Given the description of an element on the screen output the (x, y) to click on. 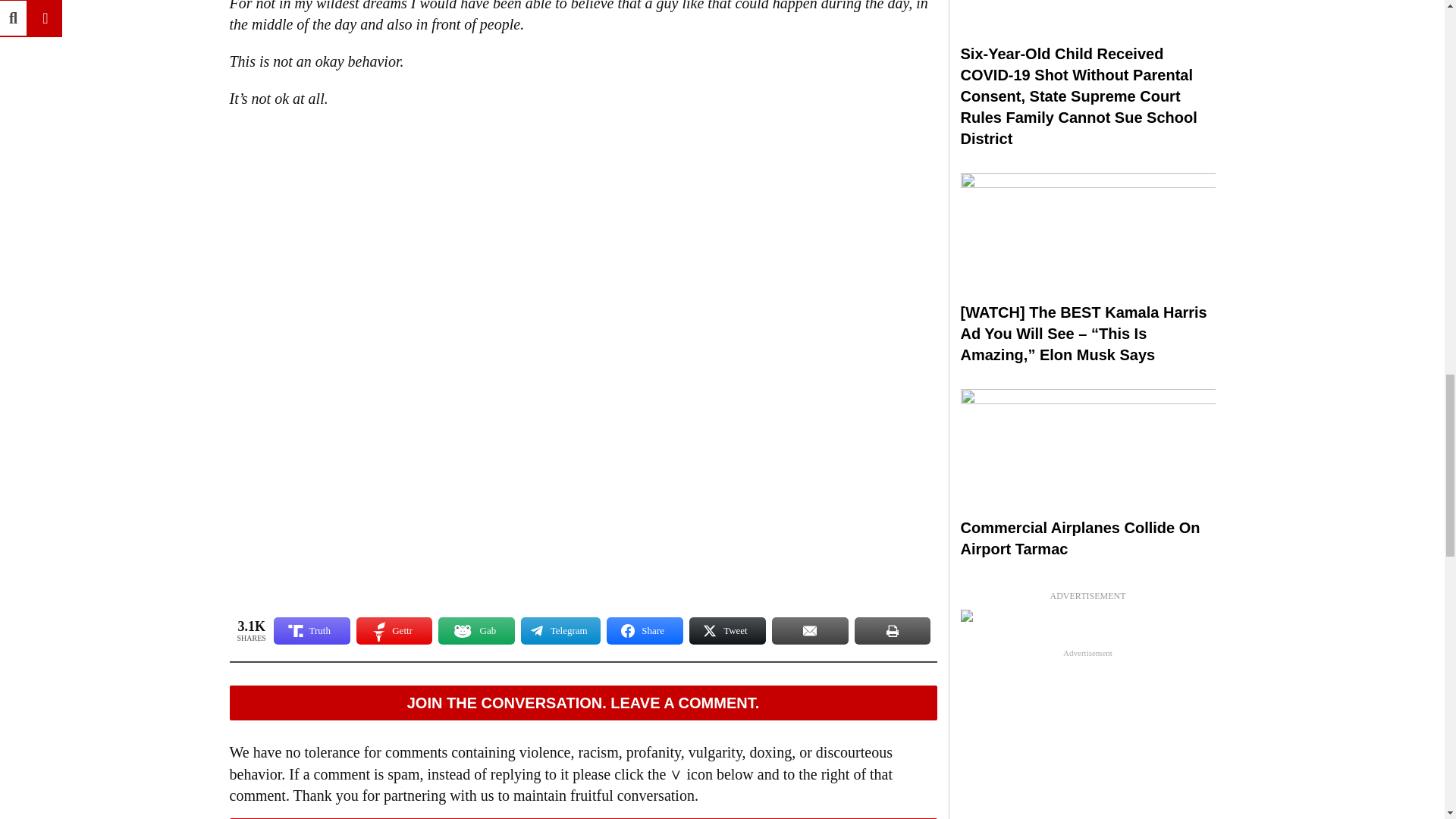
Share on Share (644, 630)
Share on Telegram (560, 630)
Share on Tweet (726, 630)
Share on Gettr (394, 630)
Truth (311, 630)
Share on Gab (476, 630)
Share on Truth (311, 630)
